Given the description of an element on the screen output the (x, y) to click on. 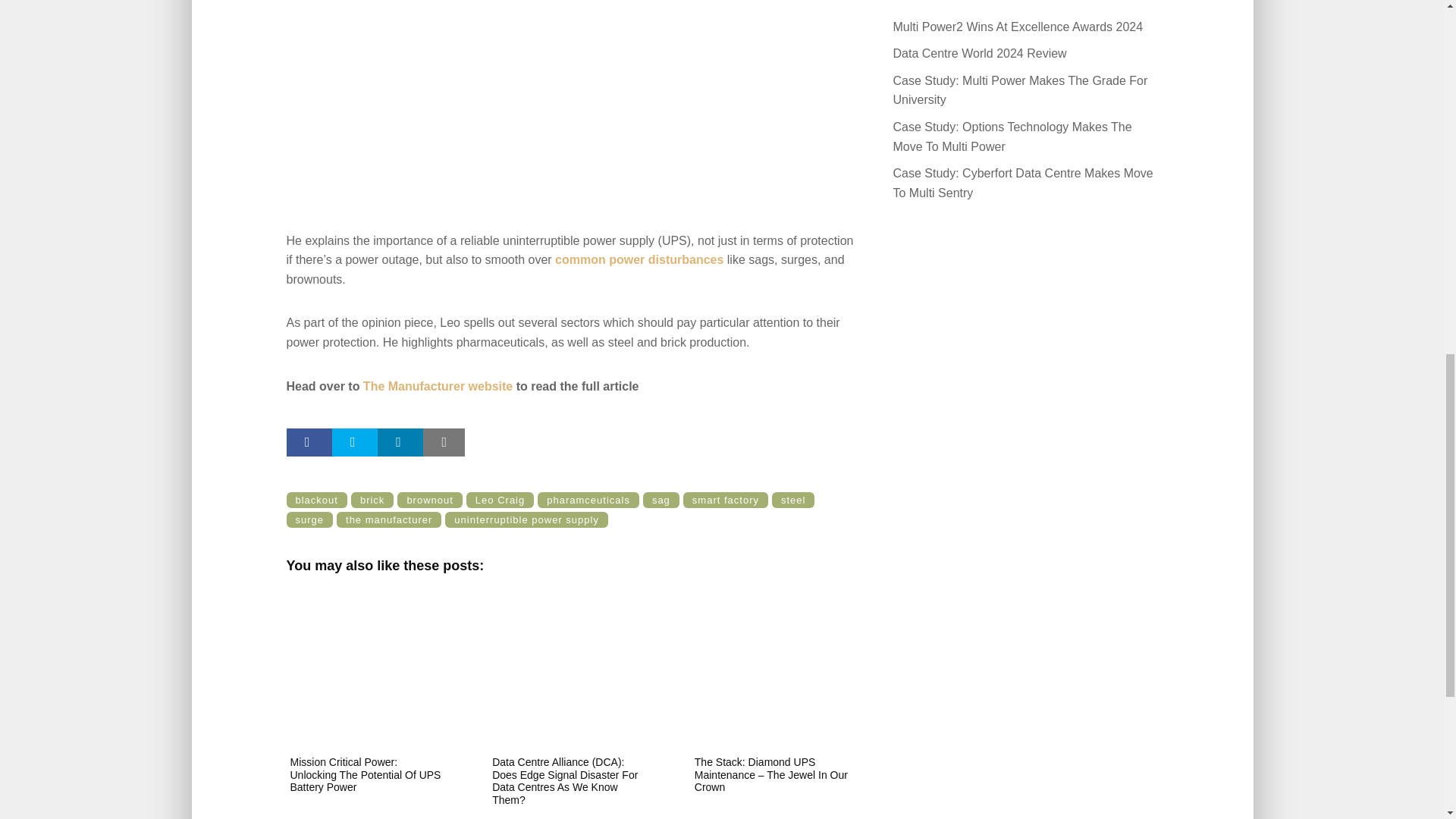
Leo Craig (499, 499)
common power disturbances (638, 259)
uninterruptible power supply (526, 519)
surge (309, 519)
sag (661, 499)
the manufacturer (388, 519)
The Manufacturer website (437, 386)
brick (371, 499)
pharamceuticals (588, 499)
brownout (429, 499)
smart factory (725, 499)
steel (792, 499)
blackout (316, 499)
